Given the description of an element on the screen output the (x, y) to click on. 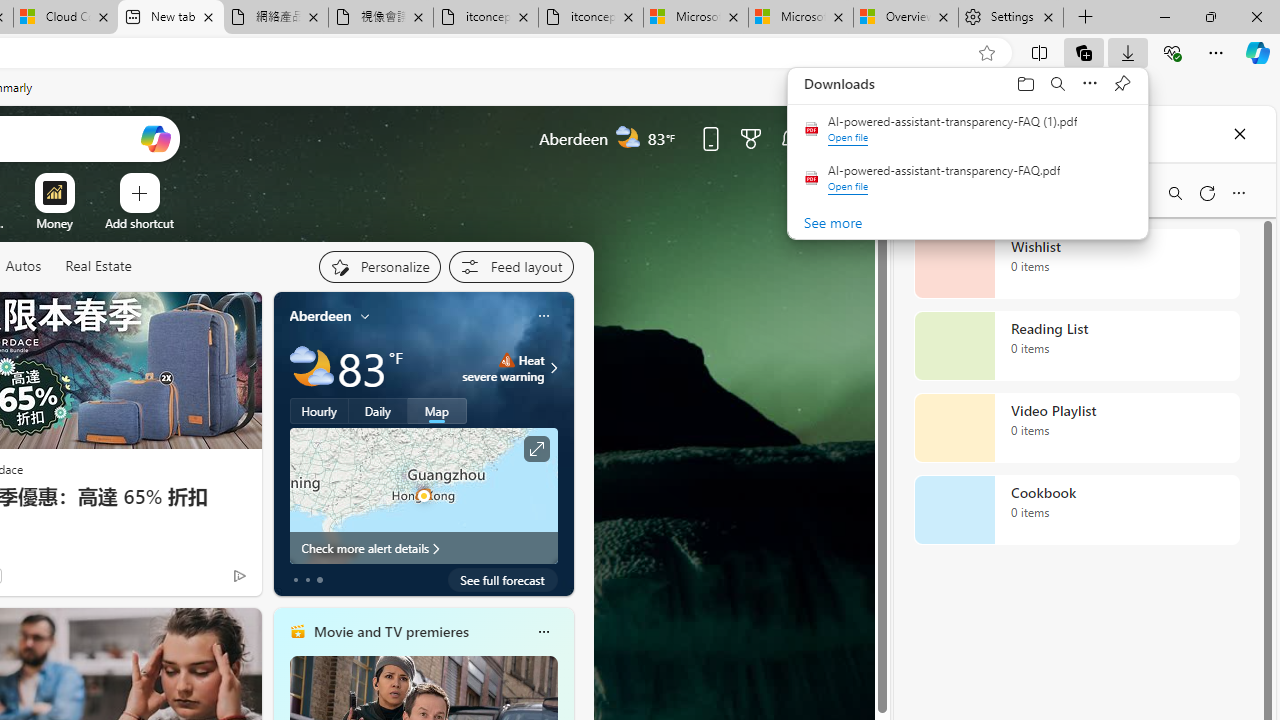
Reading List collection, 0 items (1076, 345)
See full forecast (502, 579)
Ad Choice (238, 575)
Class: icon-img (543, 632)
Money (53, 223)
Click to see more information (536, 449)
Feed settings (510, 266)
